Given the description of an element on the screen output the (x, y) to click on. 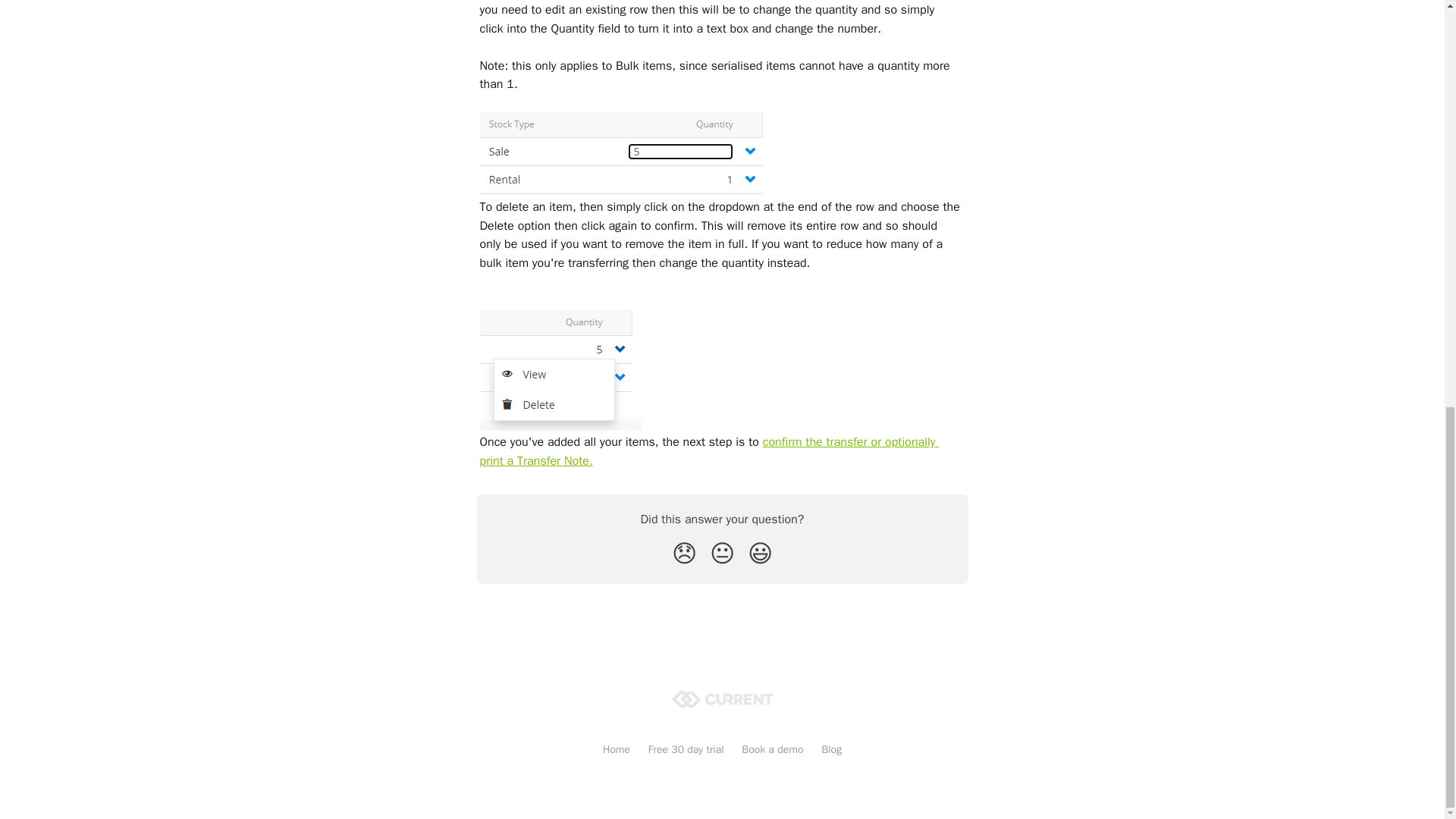
Book a demo (772, 748)
confirm the transfer or optionally print a Transfer Note. (709, 450)
Blog (831, 748)
Home (616, 748)
Free 30 day trial (685, 748)
